Given the description of an element on the screen output the (x, y) to click on. 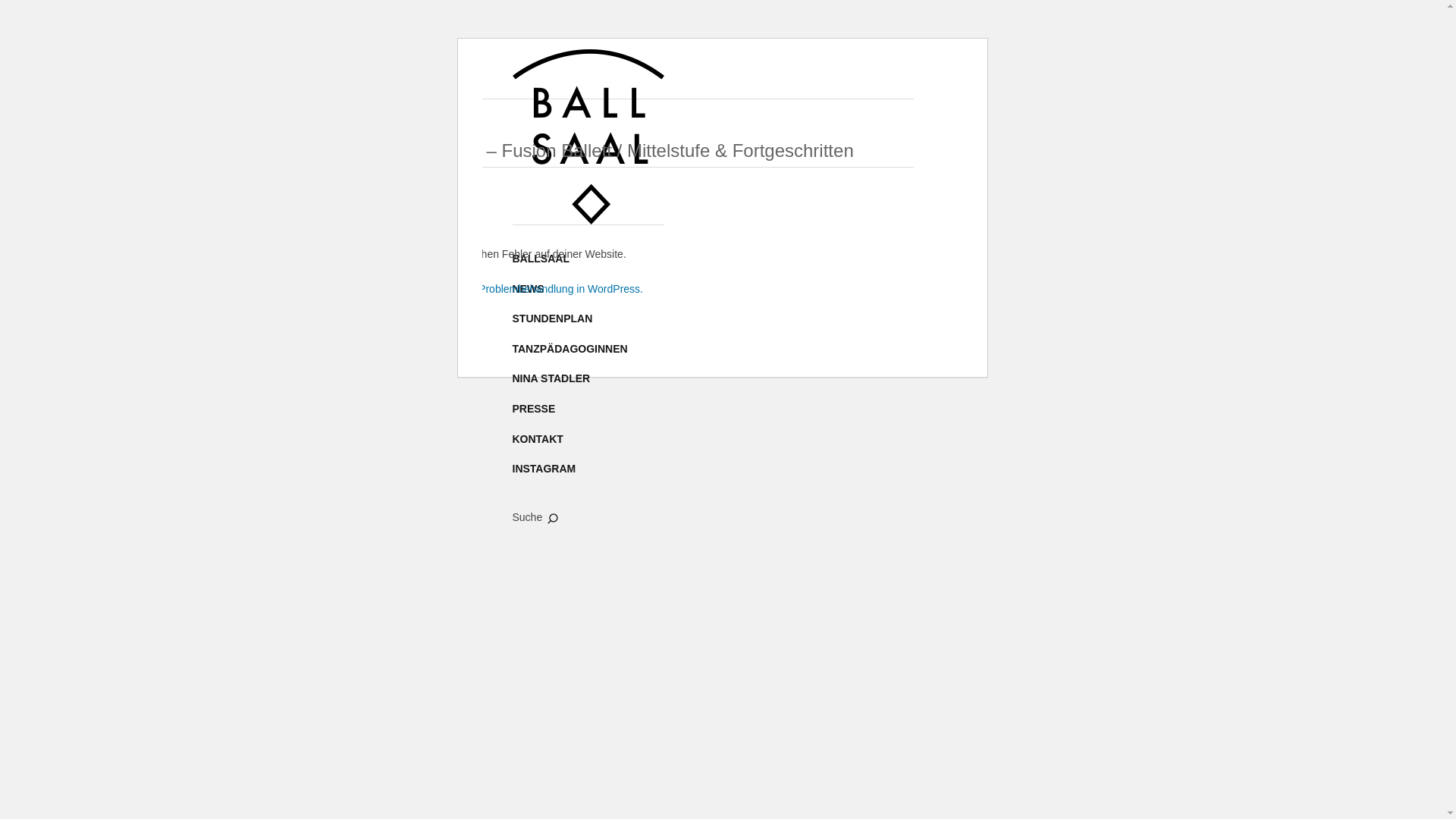
KONTAKT Element type: text (537, 439)
NINA STADLER Element type: text (551, 378)
PRESSE Element type: text (533, 409)
Ballsaal Tanzwerkstatt Element type: text (588, 136)
NEWS Element type: text (528, 289)
STUNDENPLAN Element type: text (552, 318)
INSTAGRAM Element type: text (544, 468)
BALLSAAL Element type: text (540, 258)
